Given the description of an element on the screen output the (x, y) to click on. 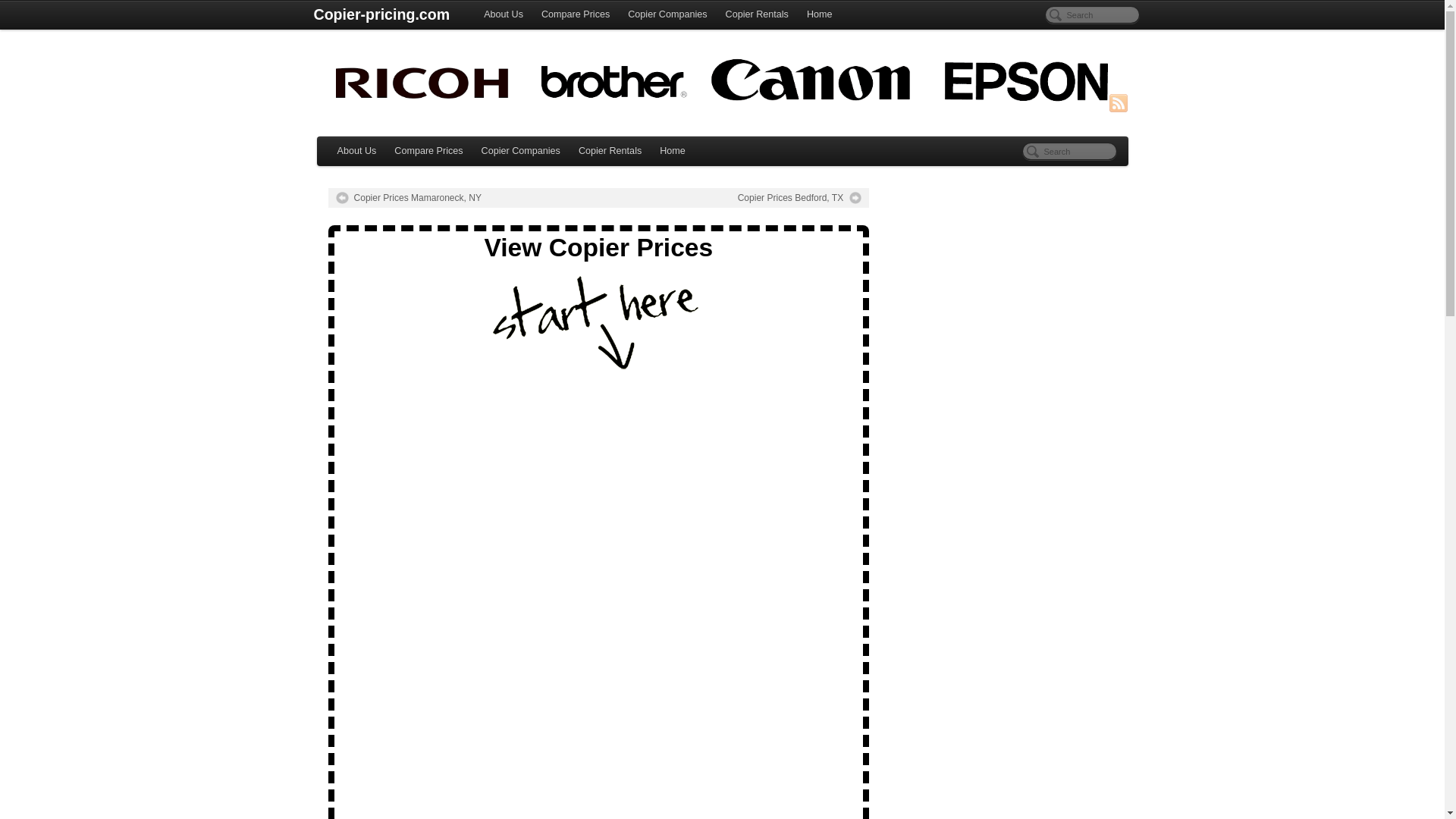
About Us (356, 151)
Copier Companies (667, 14)
Copier-pricing.com (381, 14)
Copier-pricing.com (722, 85)
Copier Prices Bedford, TX (799, 197)
Copier-pricing.com (381, 14)
Home (819, 14)
Copier Rentals (609, 151)
Home (672, 151)
Compare Prices (575, 14)
Copier Prices Mamaroneck, NY (407, 197)
Copier Companies (520, 151)
About Us (503, 14)
Compare Prices (428, 151)
